Given the description of an element on the screen output the (x, y) to click on. 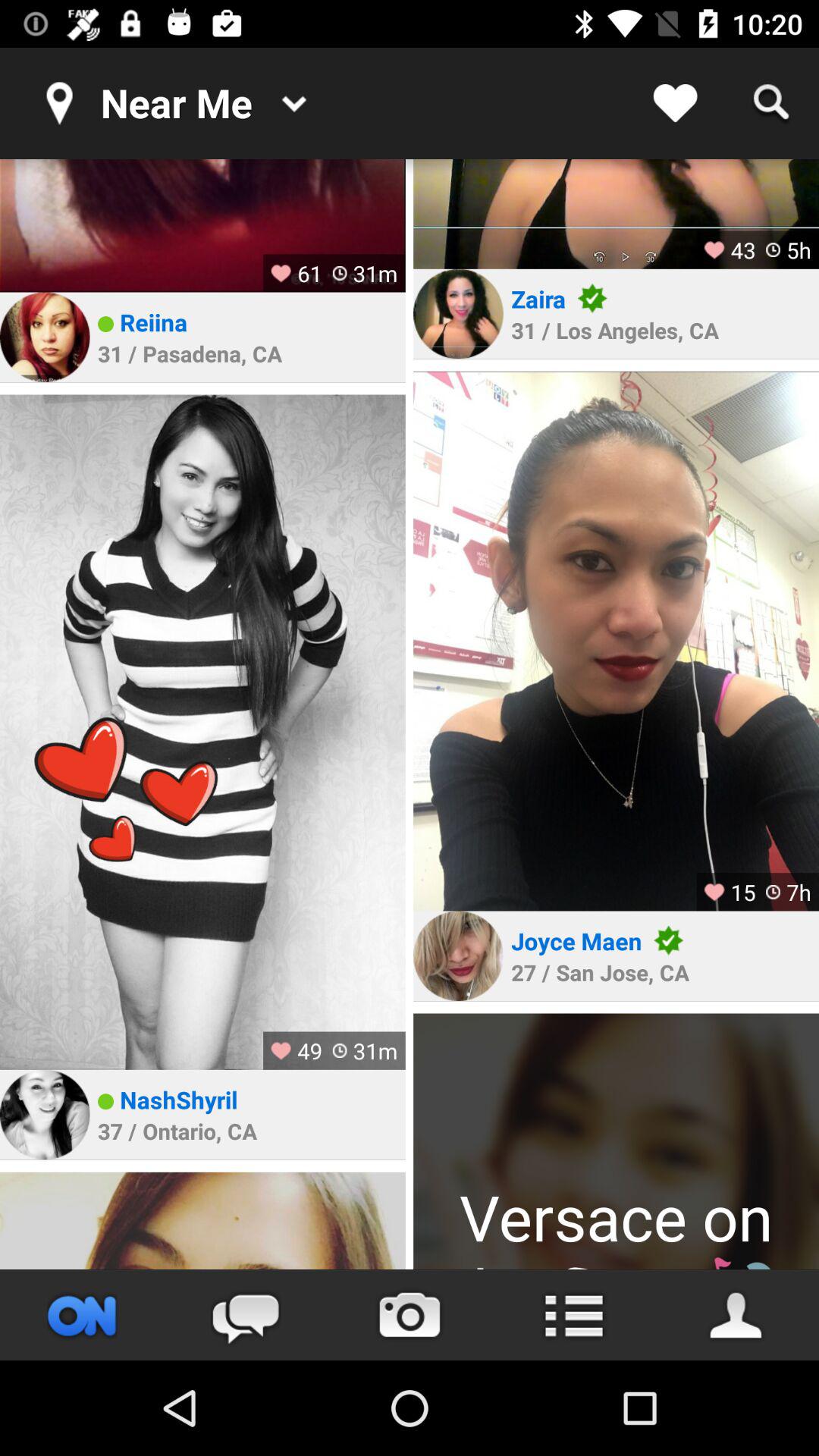
message option (245, 1315)
